Given the description of an element on the screen output the (x, y) to click on. 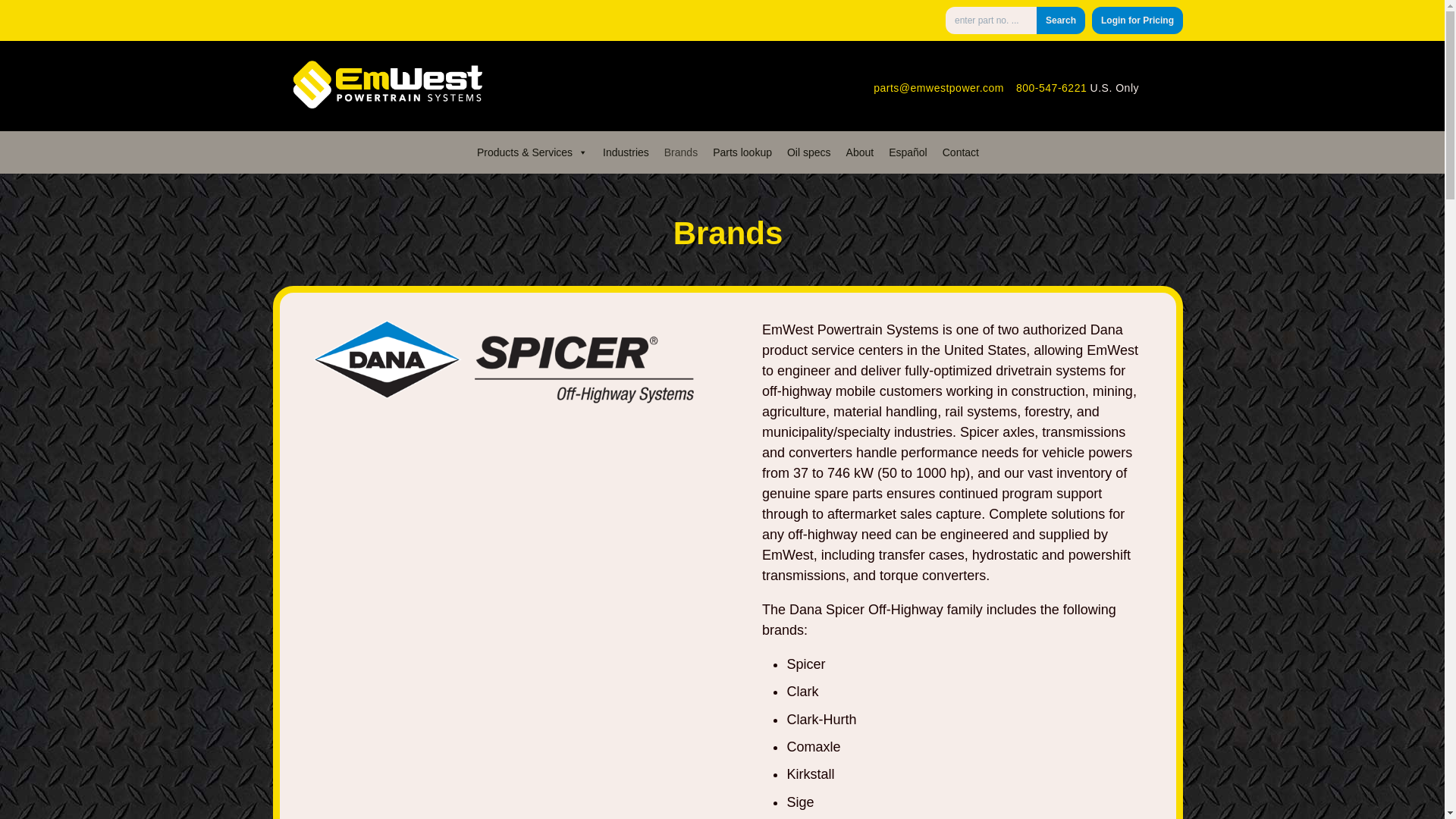
Login for Pricing (1137, 20)
Facebook (1150, 85)
800-547-6221 U.S. Only (1077, 85)
LinkedIn (1163, 85)
Search (1060, 20)
